Given the description of an element on the screen output the (x, y) to click on. 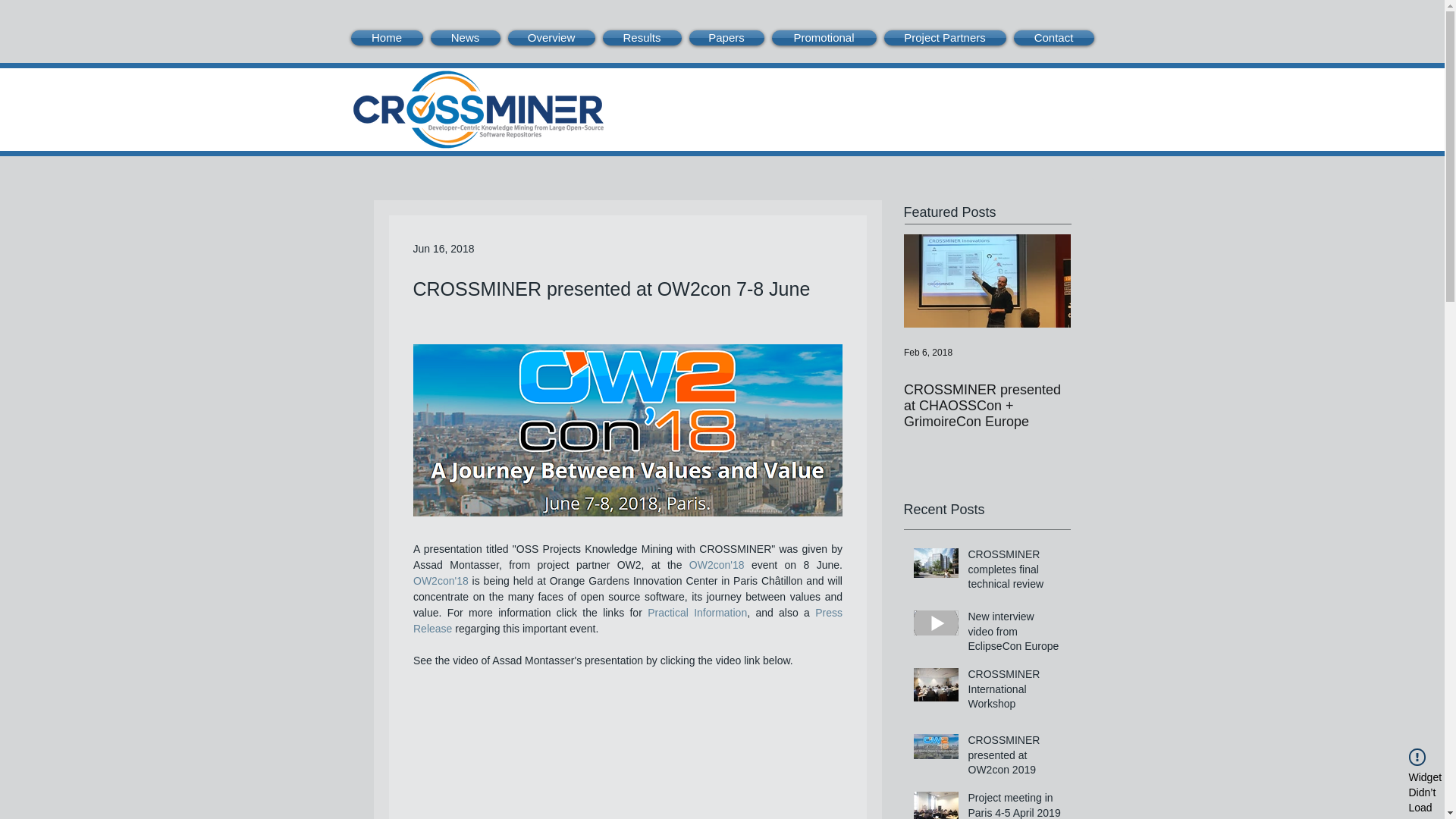
CROSSMINER International Workshop (1014, 692)
Home (388, 37)
CROSSMINER completes final technical review (1014, 572)
New interview video from EclipseCon Europe (1014, 634)
CROSSMINER presented at OW2con 2019 (1014, 758)
Overview (550, 37)
Project meeting in Paris 4-5 April 2019 (1014, 805)
Contact (1052, 37)
Press Release (628, 620)
Promotional (823, 37)
OW2con'18 (716, 564)
News (464, 37)
Jun 16, 2018 (443, 248)
Papers (726, 37)
Feb 6, 2018 (928, 352)
